Given the description of an element on the screen output the (x, y) to click on. 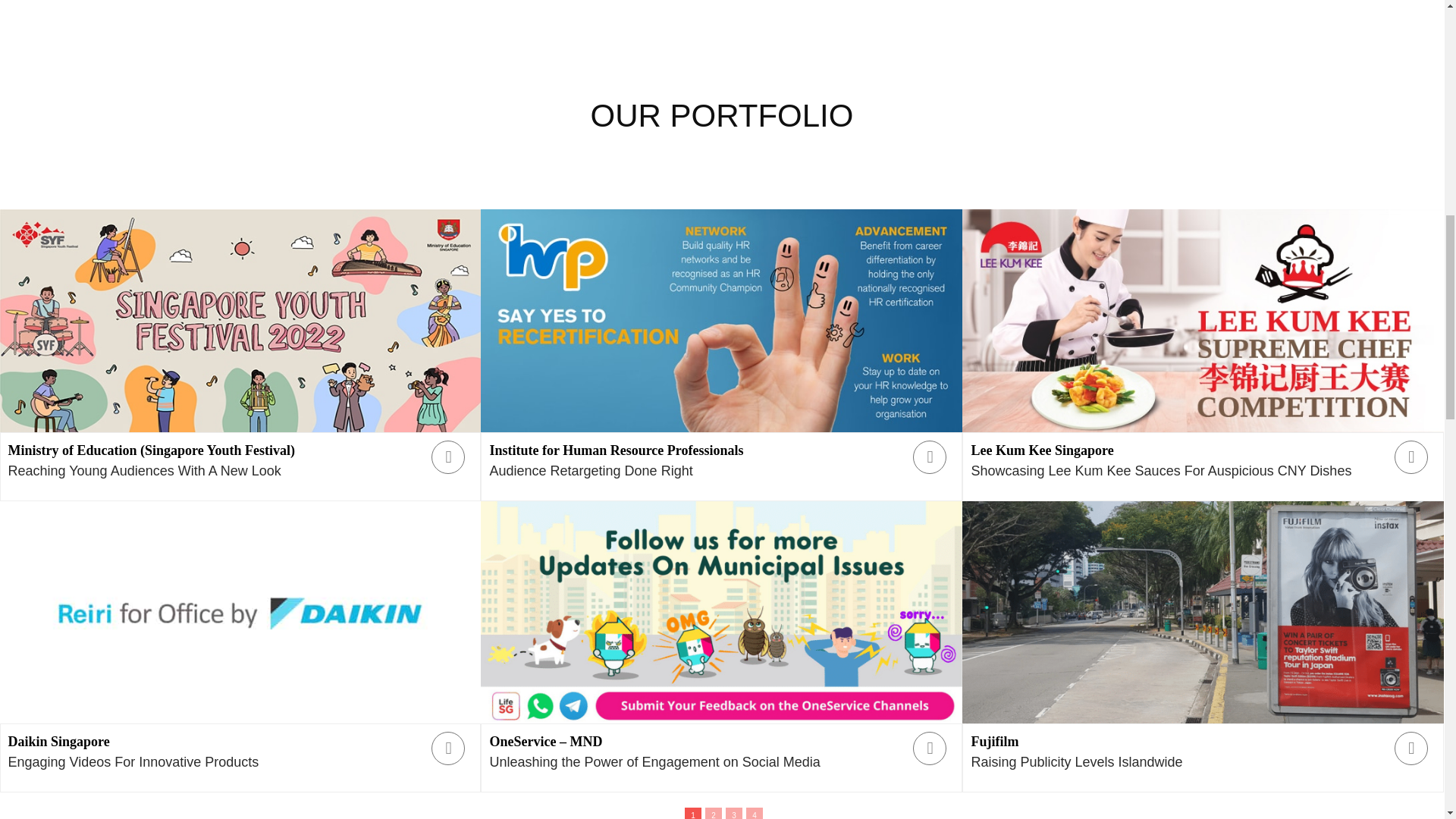
Institute for Human Resource Professionals (615, 450)
Institute for Human Resource Professionals (721, 320)
